Given the description of an element on the screen output the (x, y) to click on. 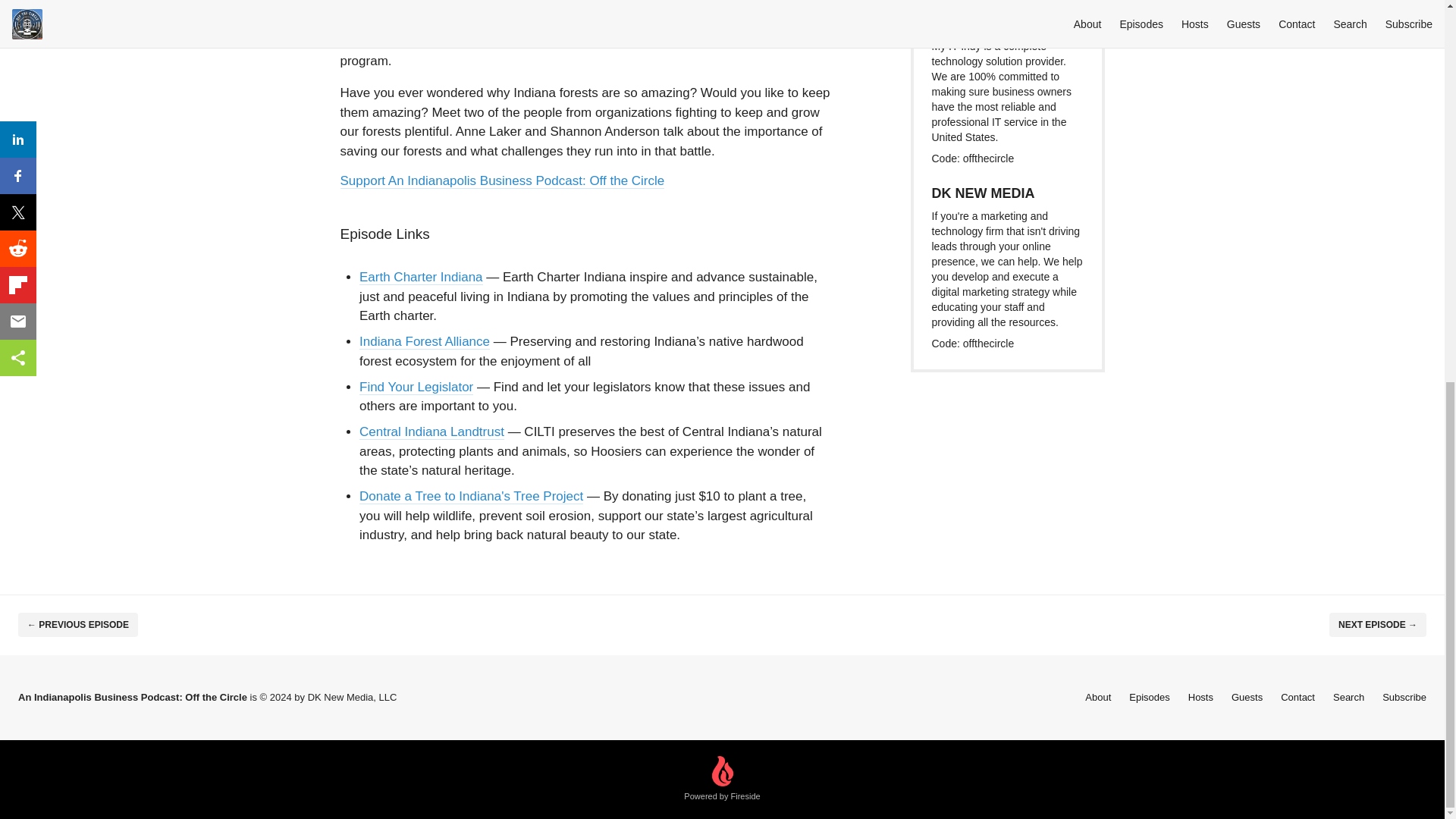
Find Your Legislator (416, 386)
Indiana Forest Alliance (424, 341)
Earth Charter Indiana (421, 277)
Central Indiana Landtrust (431, 431)
Powered by Fireside (722, 779)
Donate a Tree to Indiana's Tree Project (471, 495)
